Given the description of an element on the screen output the (x, y) to click on. 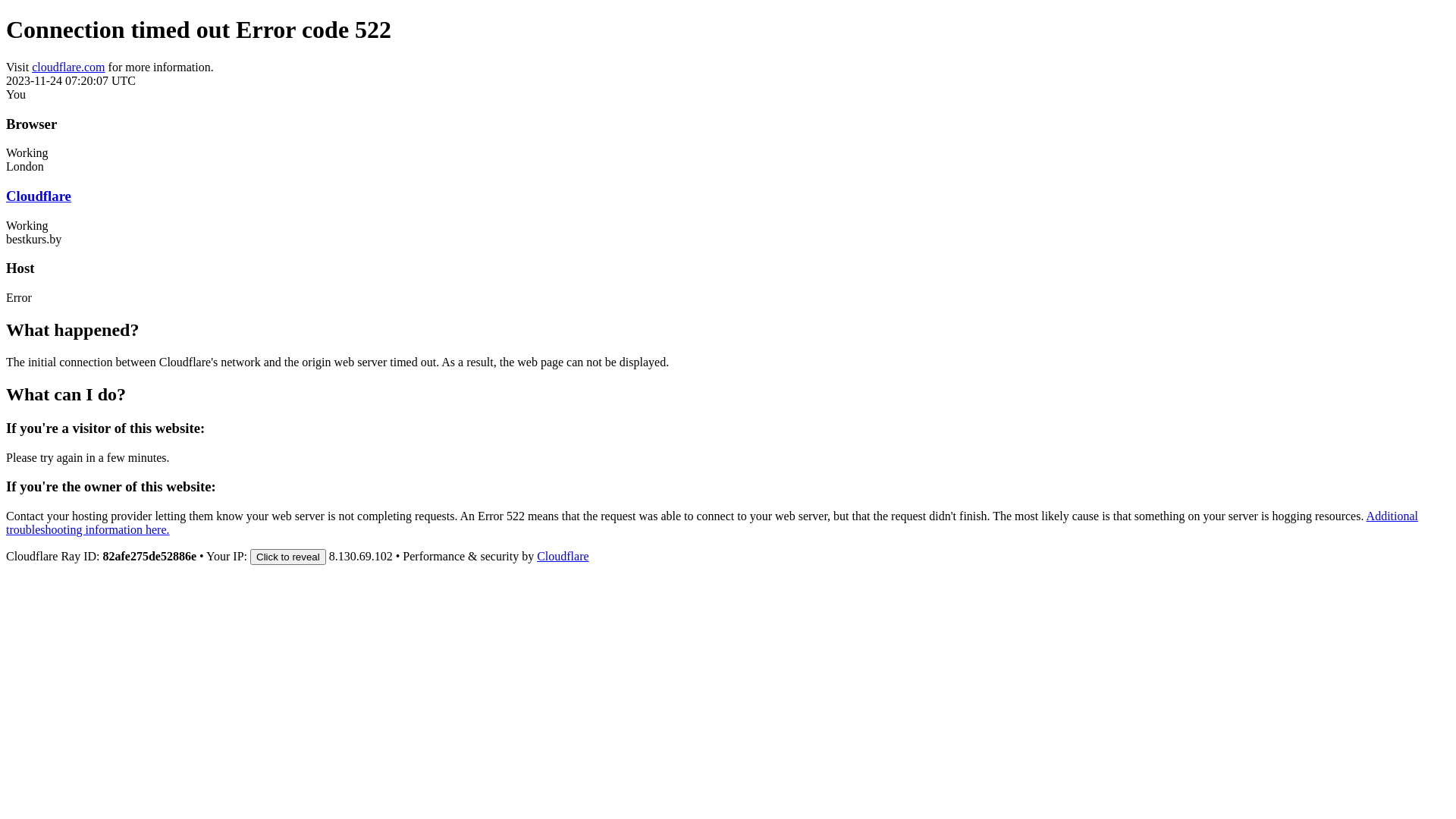
Additional troubleshooting information here. Element type: text (712, 522)
Cloudflare Element type: text (38, 195)
Click to reveal Element type: text (288, 556)
Cloudflare Element type: text (562, 555)
cloudflare.com Element type: text (67, 66)
